Given the description of an element on the screen output the (x, y) to click on. 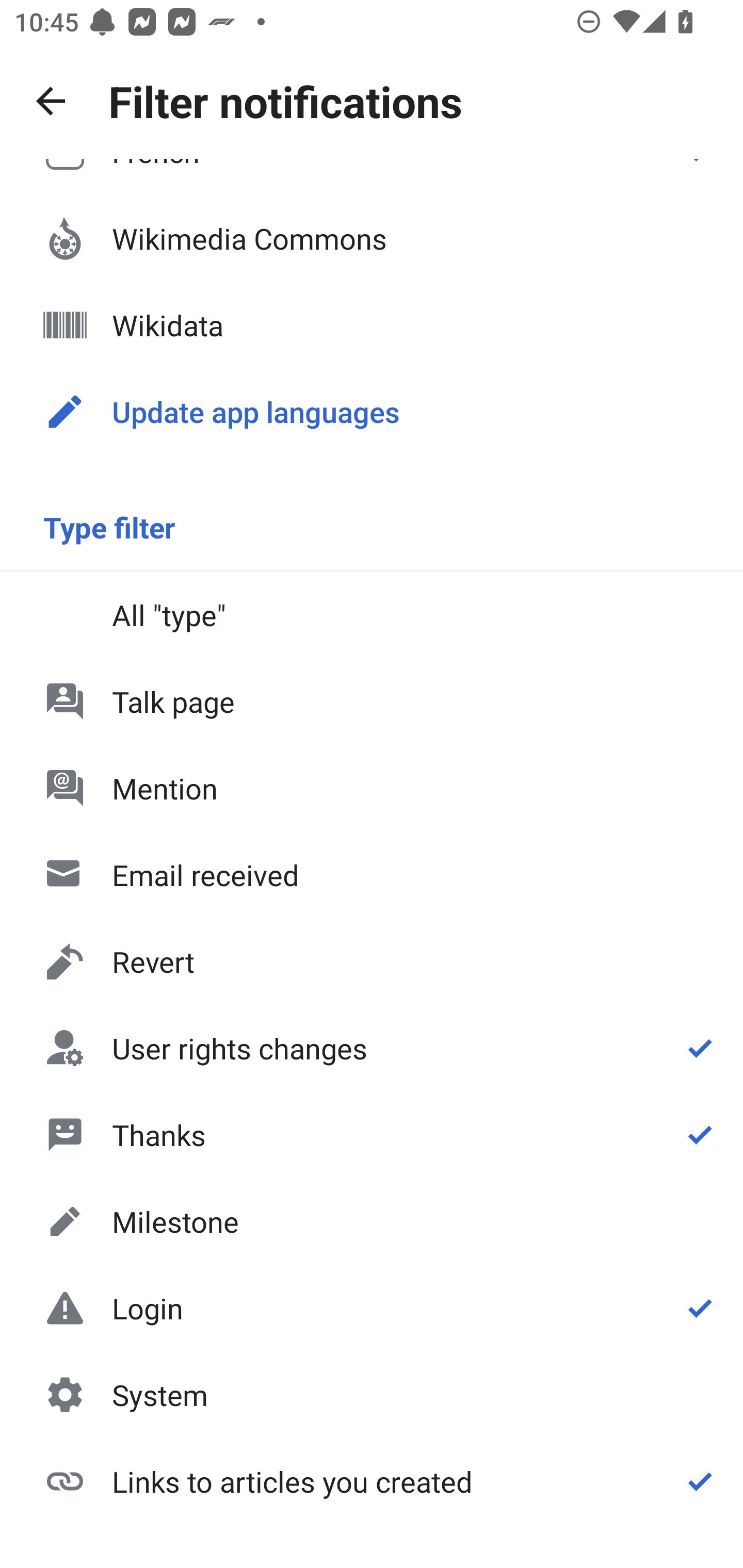
Navigate up (50, 101)
Wikimedia Commons (371, 238)
Wikidata (371, 325)
Update app languages (371, 411)
All "type" (371, 614)
Talk page (371, 701)
Mention (371, 787)
Email received (371, 874)
Revert (371, 961)
User rights changes (371, 1048)
Thanks (371, 1134)
Milestone (371, 1221)
Login (371, 1308)
System (371, 1394)
Links to articles you created (371, 1480)
